Given the description of an element on the screen output the (x, y) to click on. 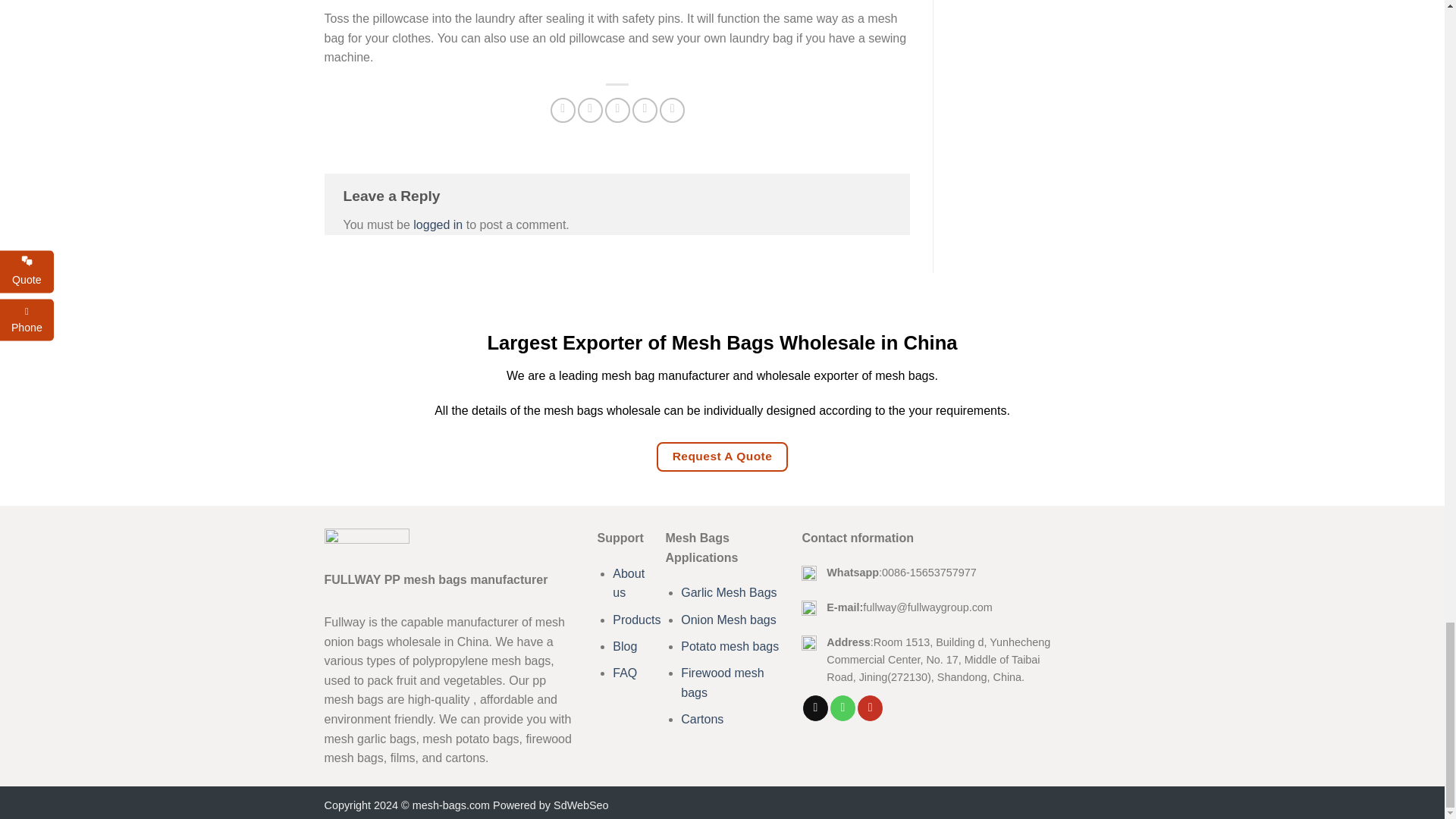
Pin on Pinterest (644, 109)
Email to a Friend (617, 109)
Follow on YouTube (869, 708)
logged in (438, 224)
Call us (842, 708)
Send us an email (815, 708)
Share on Facebook (562, 109)
Share on LinkedIn (671, 109)
Share on Twitter (590, 109)
